Given the description of an element on the screen output the (x, y) to click on. 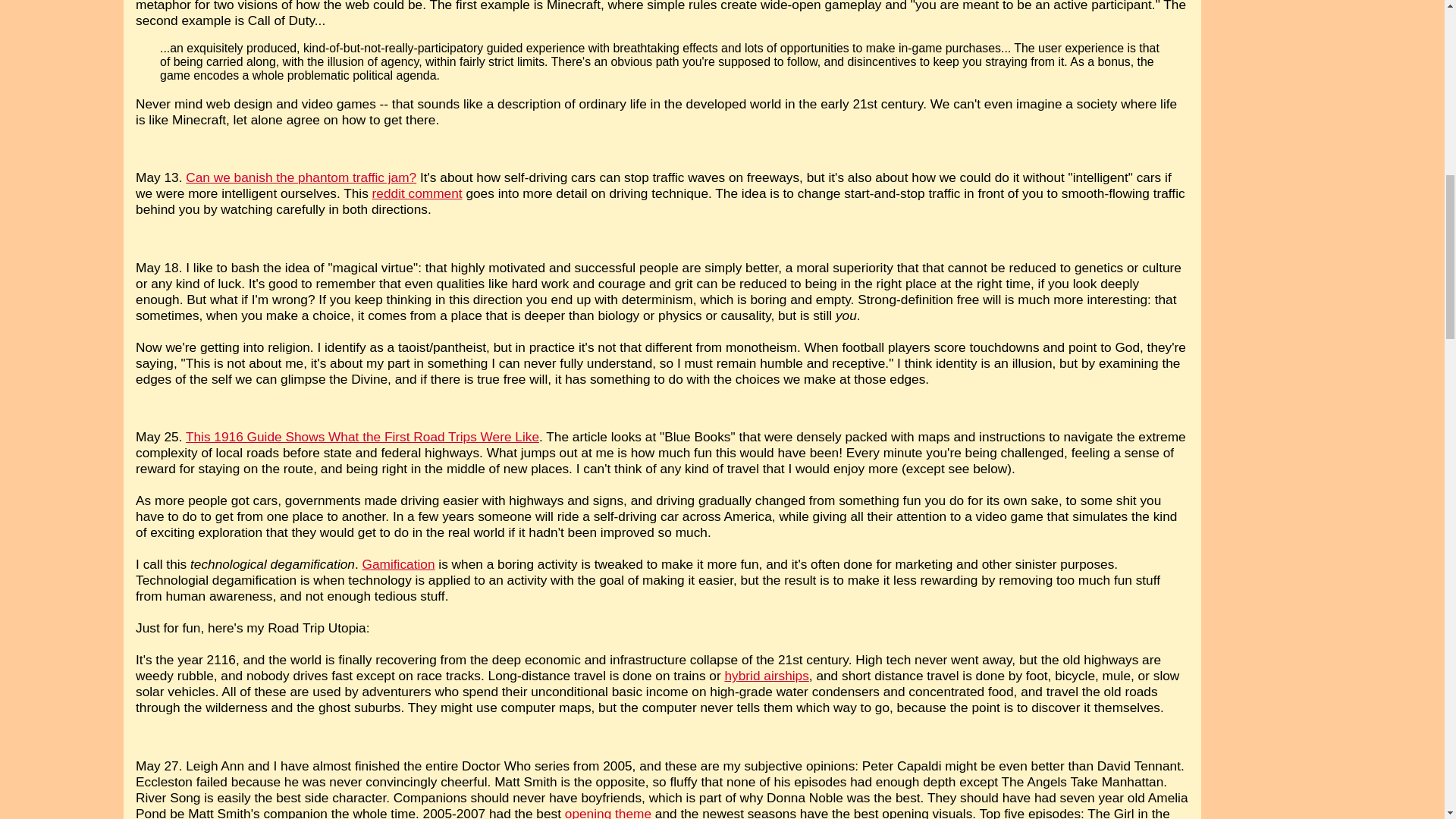
Gamification (398, 563)
opening theme (607, 812)
This 1916 Guide Shows What the First Road Trips Were Like (362, 436)
hybrid airships (765, 675)
reddit comment (417, 192)
Can we banish the phantom traffic jam? (301, 177)
